Given the description of an element on the screen output the (x, y) to click on. 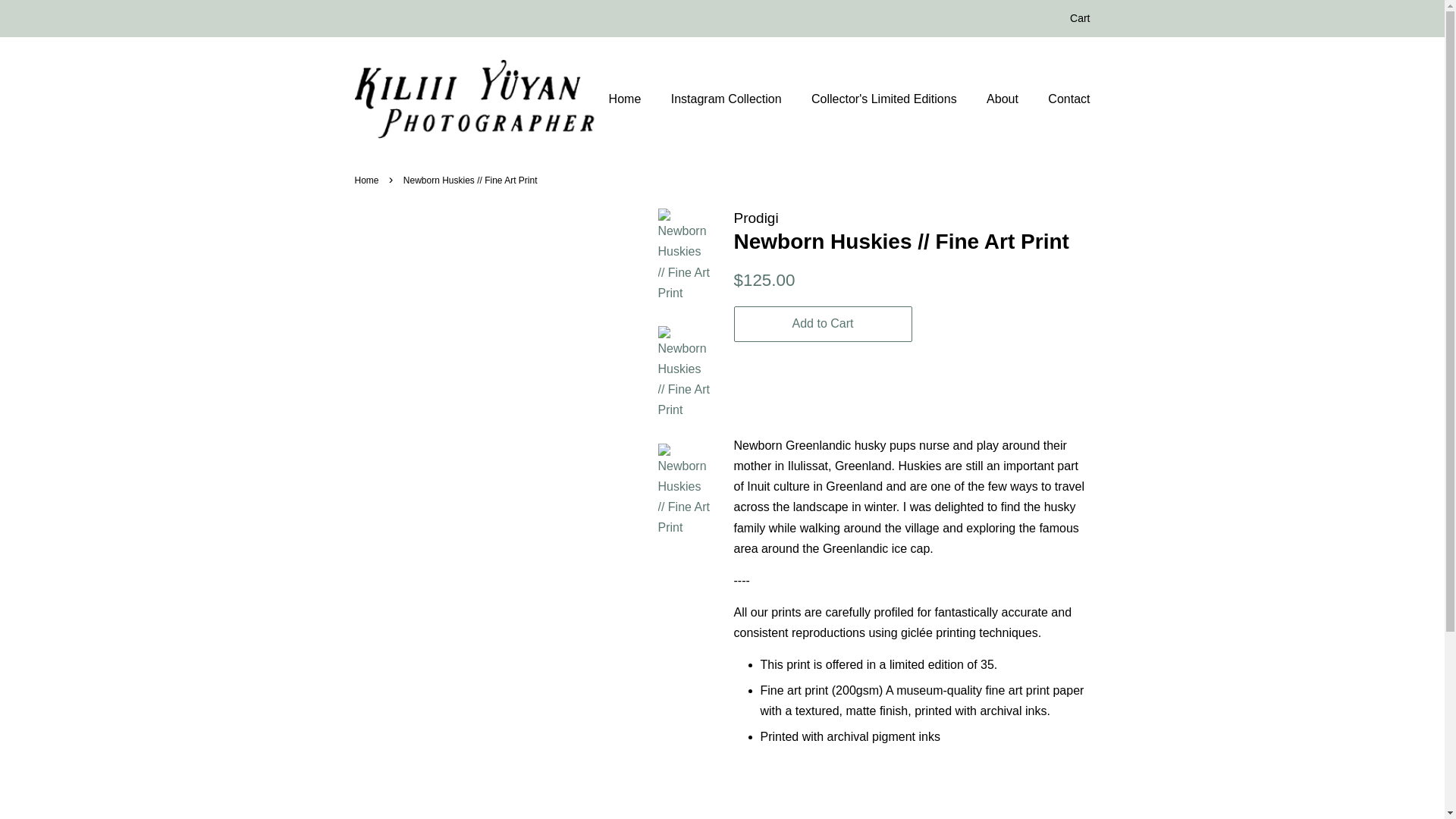
About (1004, 98)
Contact (1062, 98)
Home (632, 98)
Instagram Collection (727, 98)
Add to Cart (822, 324)
Back to the frontpage (368, 180)
Collector's Limited Editions (885, 98)
Home (368, 180)
Cart (1079, 18)
